Given the description of an element on the screen output the (x, y) to click on. 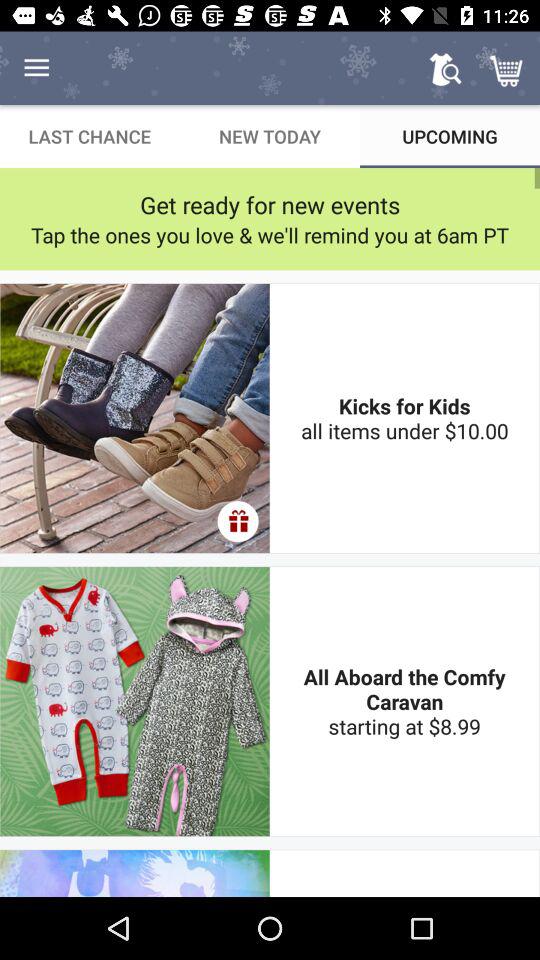
turn on the item below the last chance item (270, 204)
